Given the description of an element on the screen output the (x, y) to click on. 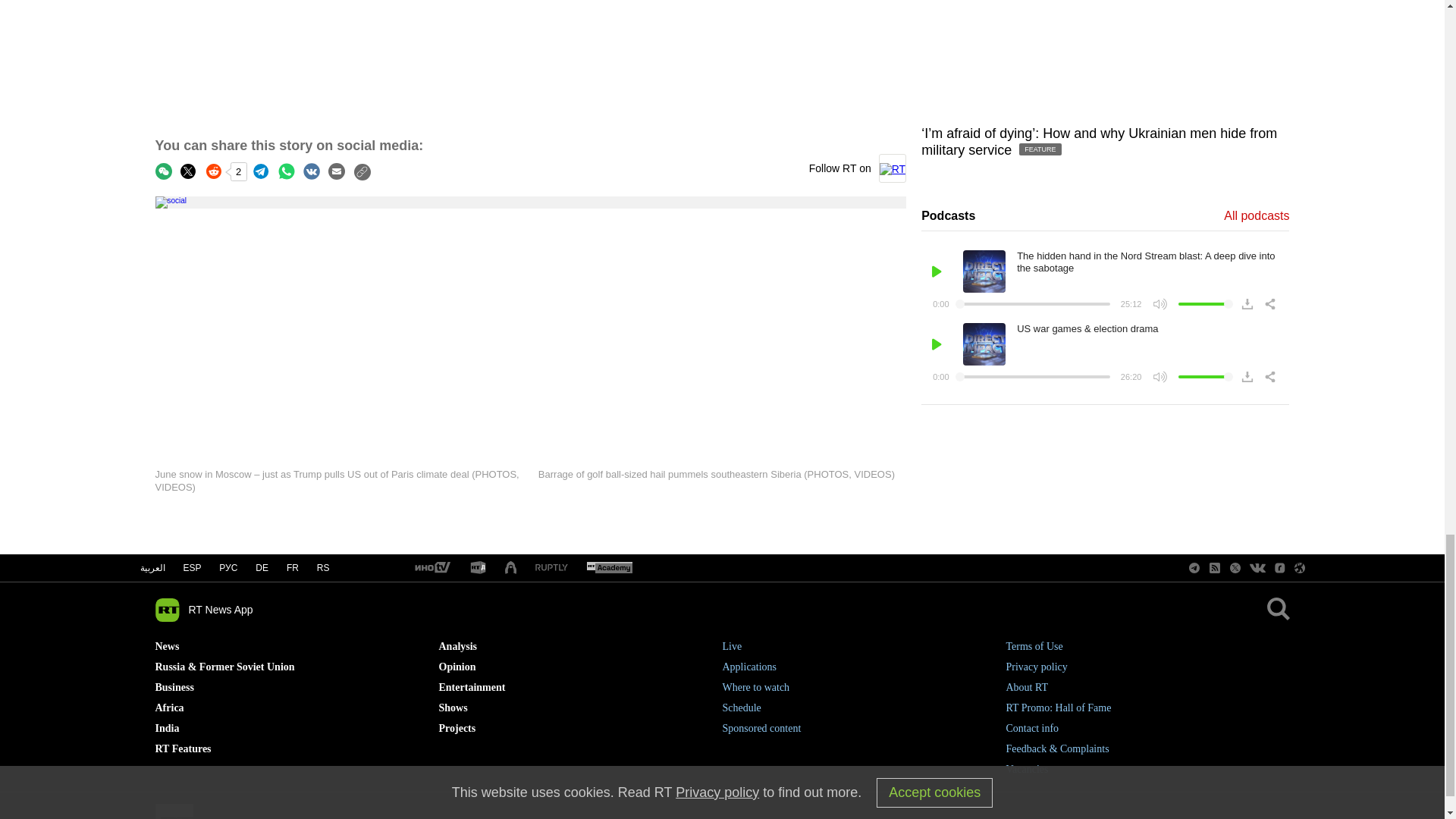
RT  (608, 567)
RT  (551, 568)
RT  (431, 567)
RT  (478, 568)
